Given the description of an element on the screen output the (x, y) to click on. 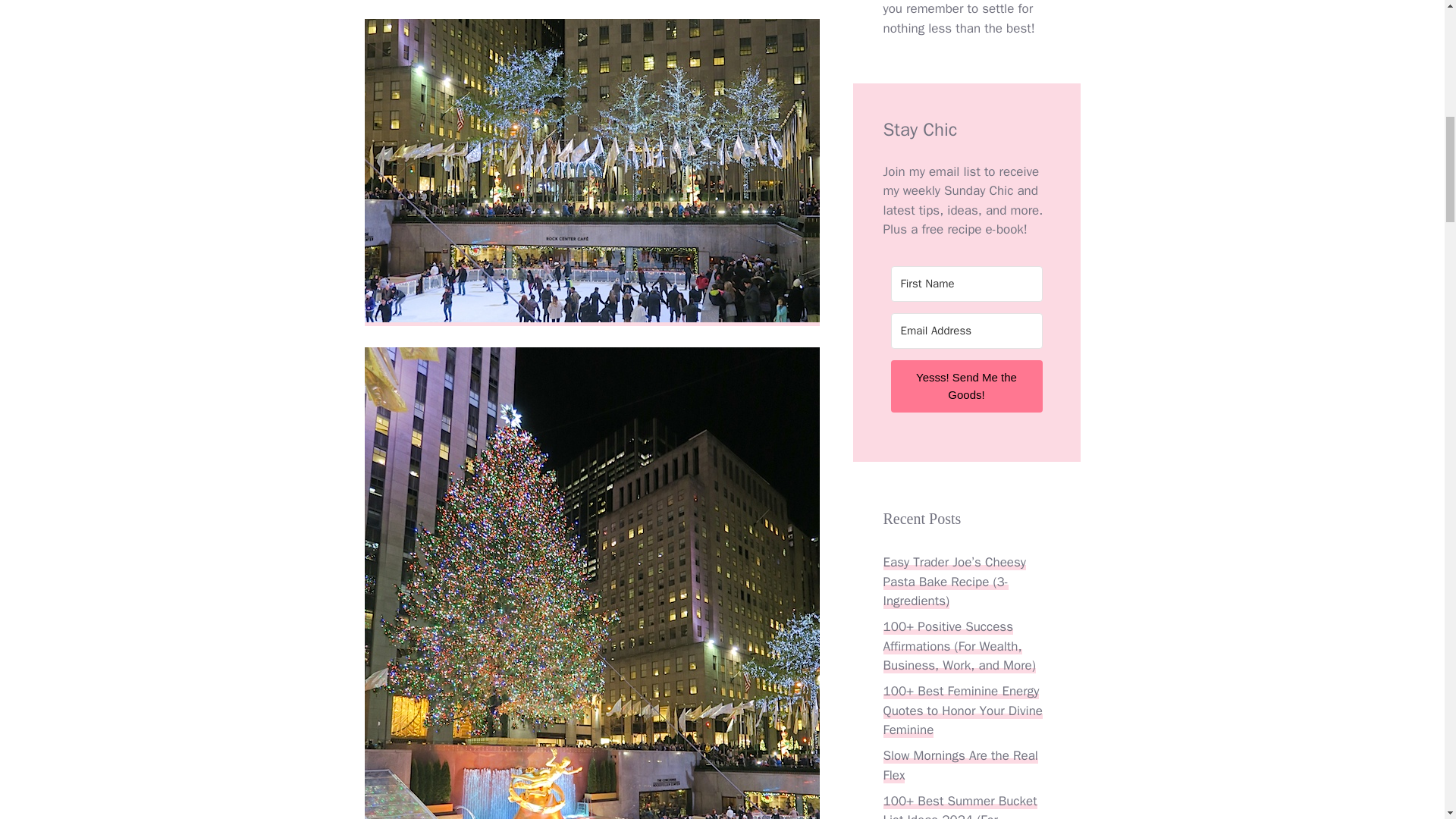
Scroll back to top (1406, 720)
